Given the description of an element on the screen output the (x, y) to click on. 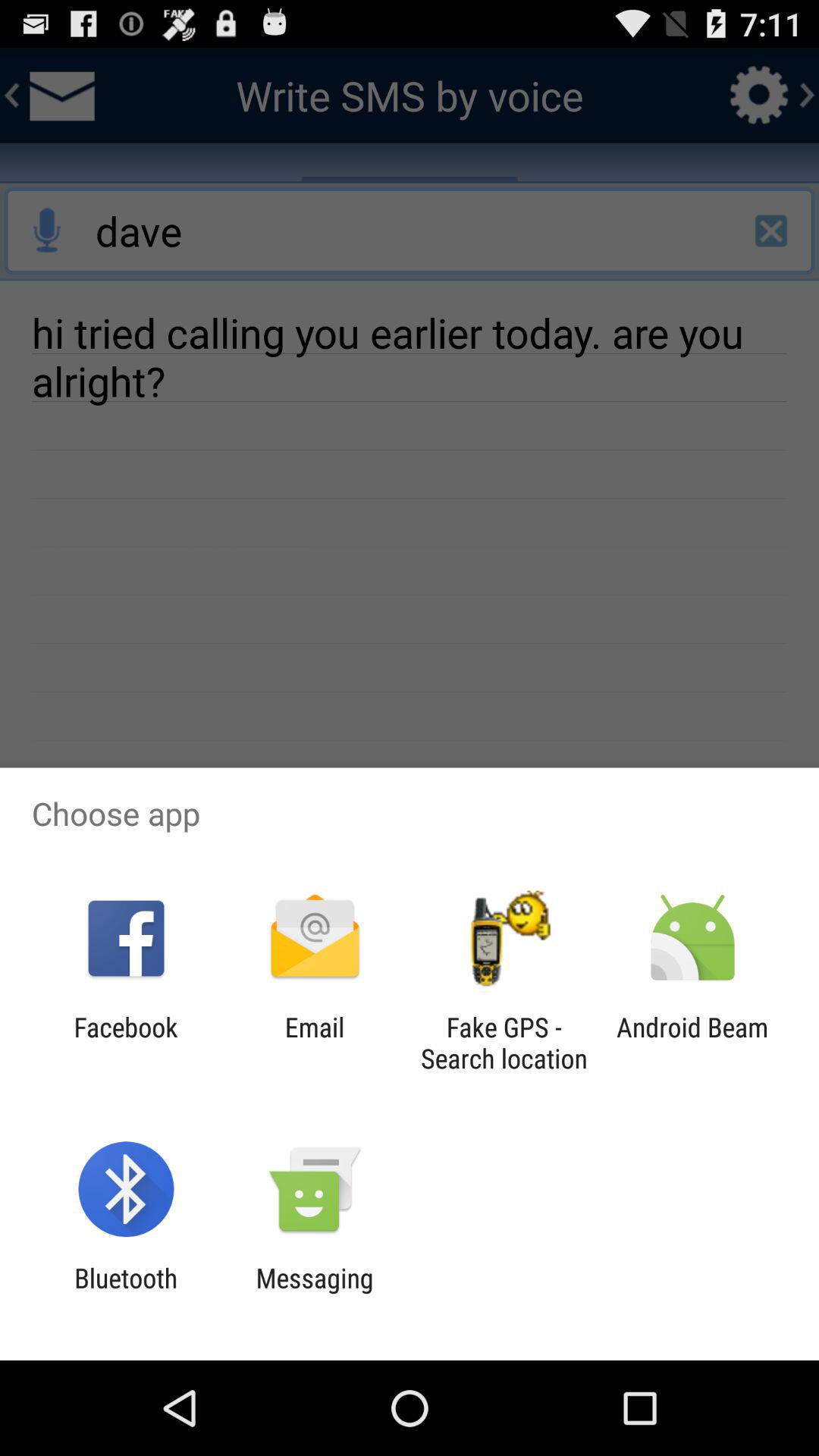
flip until messaging item (314, 1293)
